Given the description of an element on the screen output the (x, y) to click on. 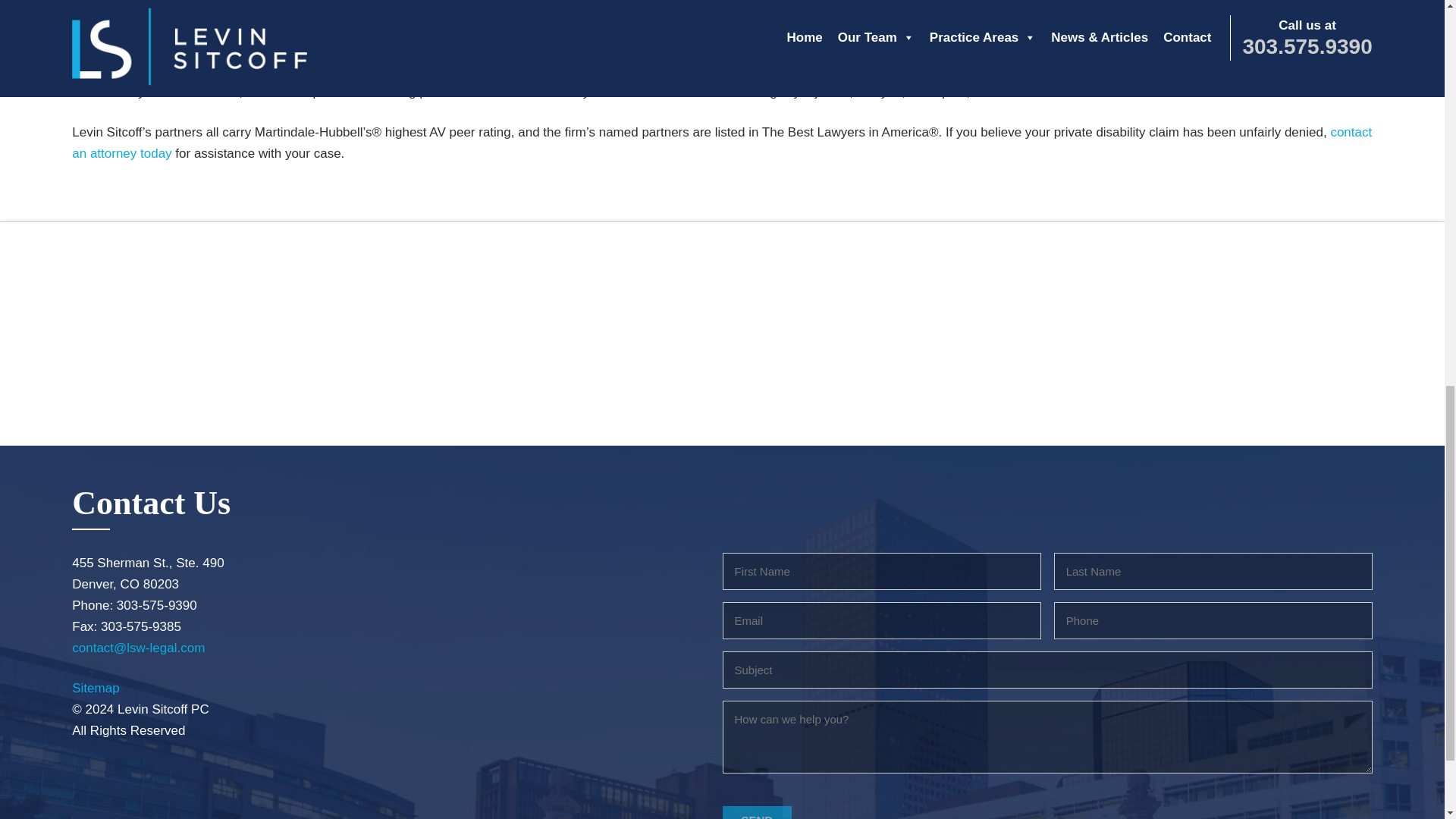
SEND (757, 812)
contact an attorney today (721, 142)
Sitemap (95, 687)
SEND (757, 812)
